Given the description of an element on the screen output the (x, y) to click on. 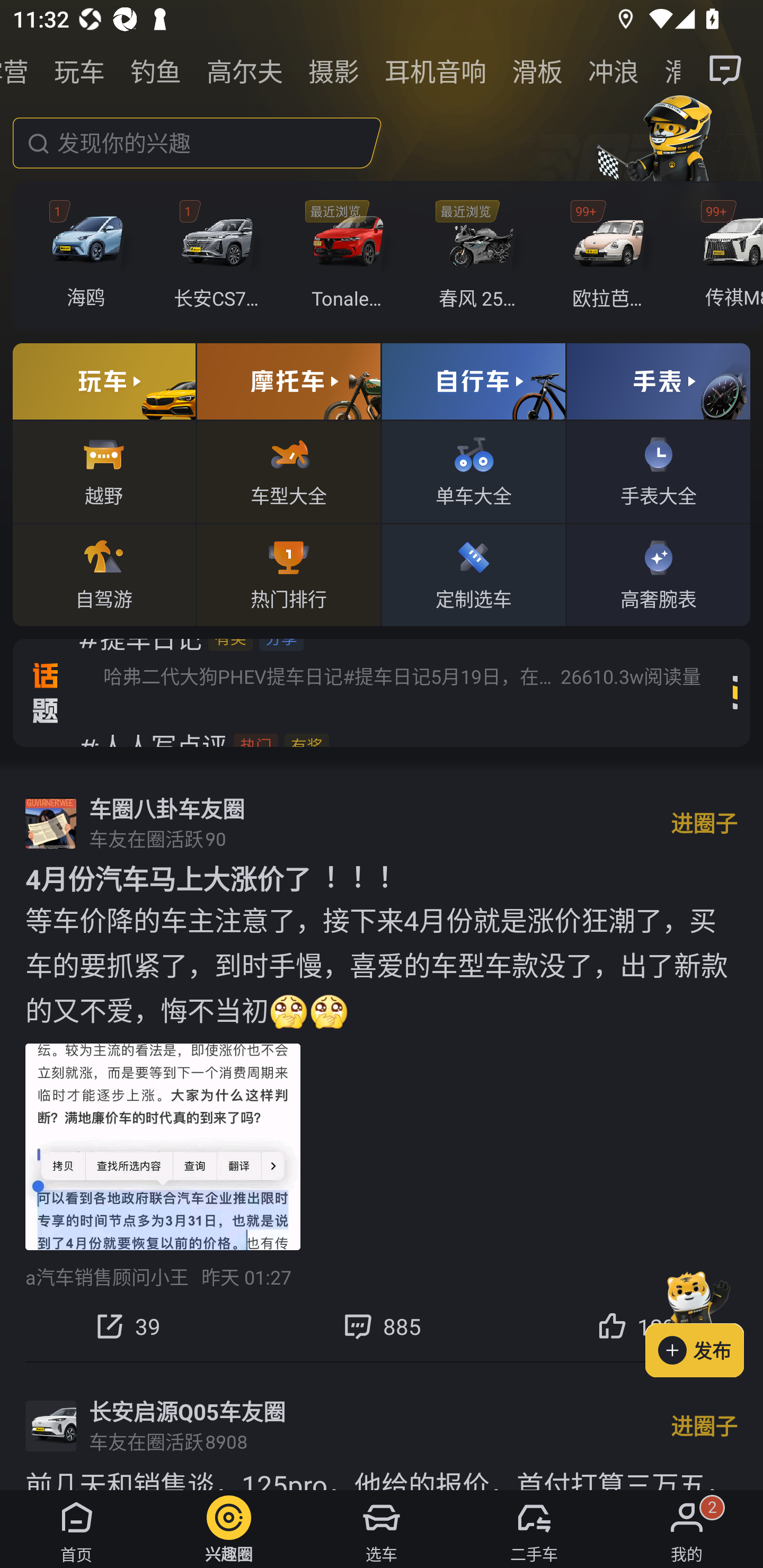
玩车 (79, 69)
钓鱼 (155, 69)
高尔夫 (244, 69)
摄影 (333, 69)
耳机音响 (435, 69)
滑板 (537, 69)
冲浪 (613, 69)
 (726, 69)
1 海鸥 (90, 256)
1 长安CS75 PLUS (220, 256)
Tonale托纳利 (351, 256)
春风 250SR (481, 256)
99+ 欧拉芭蕾猫 (611, 256)
99+ 传祺M8 (726, 256)
越野 (103, 471)
车型大全 (288, 471)
单车大全 (473, 471)
手表大全 (658, 471)
自驾游 (103, 574)
热门排行 (288, 574)
定制选车 (473, 574)
高奢腕表 (658, 574)
车圈八卦车友圈 车友在圈活跃 90 进圈子 (381, 822)
发布 (704, 1320)
 39 (127, 1326)
 885 (381, 1326)
长安启源Q05车友圈 车友在圈活跃 8908 进圈子 (381, 1425)
 首页 (76, 1528)
兴趣圈 (228, 1528)
 选车 (381, 1528)
 二手车 (533, 1528)
 我的 (686, 1528)
